Given the description of an element on the screen output the (x, y) to click on. 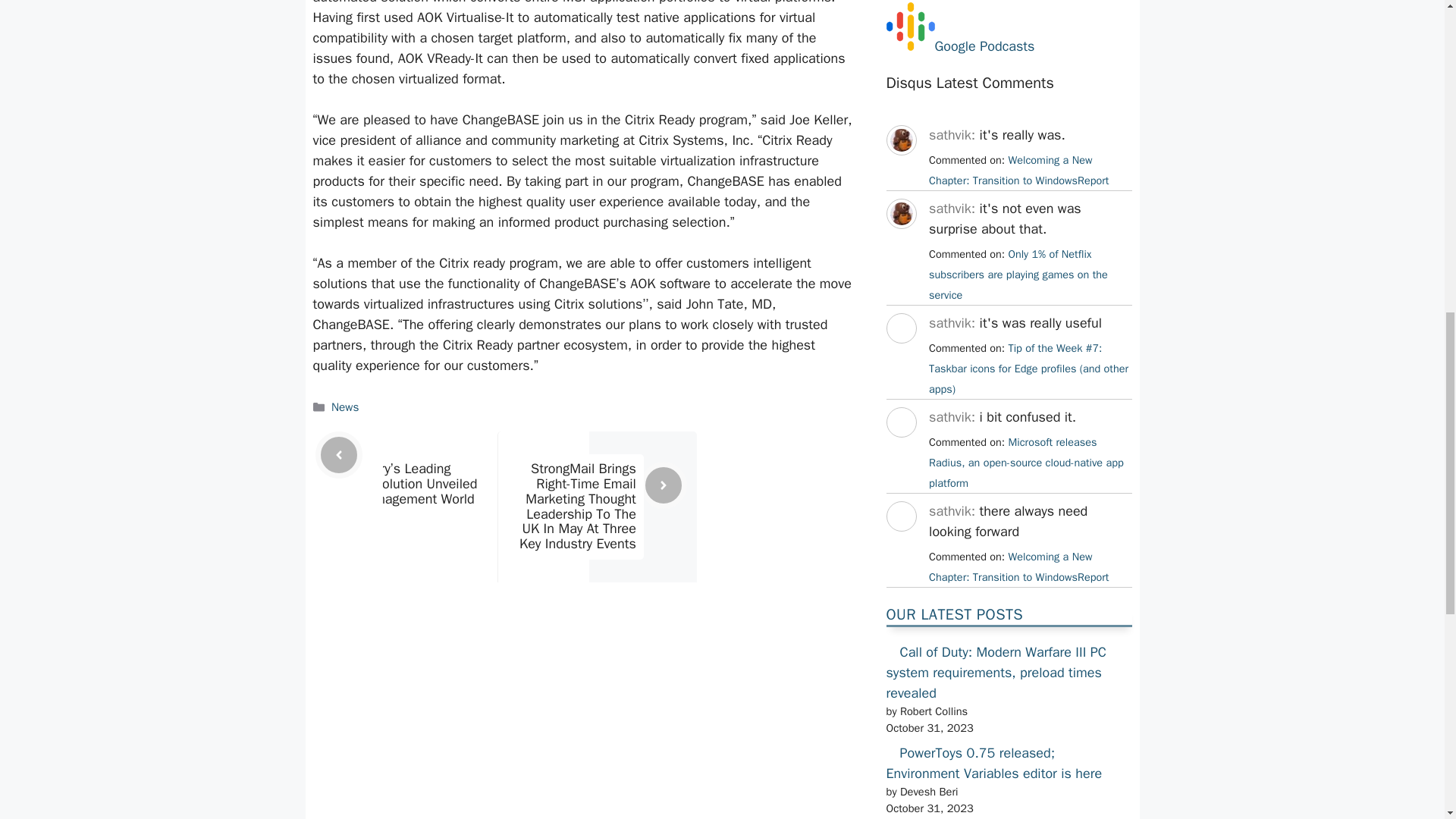
July 8, 2024 (1028, 368)
May 20, 2024 (1018, 566)
sathvik (900, 168)
sathvik (900, 356)
sathvik (900, 242)
sathvik (900, 545)
July 11, 2024 (1018, 274)
July 24, 2024 (1018, 170)
sathvik (900, 451)
June 15, 2024 (1026, 461)
